Given the description of an element on the screen output the (x, y) to click on. 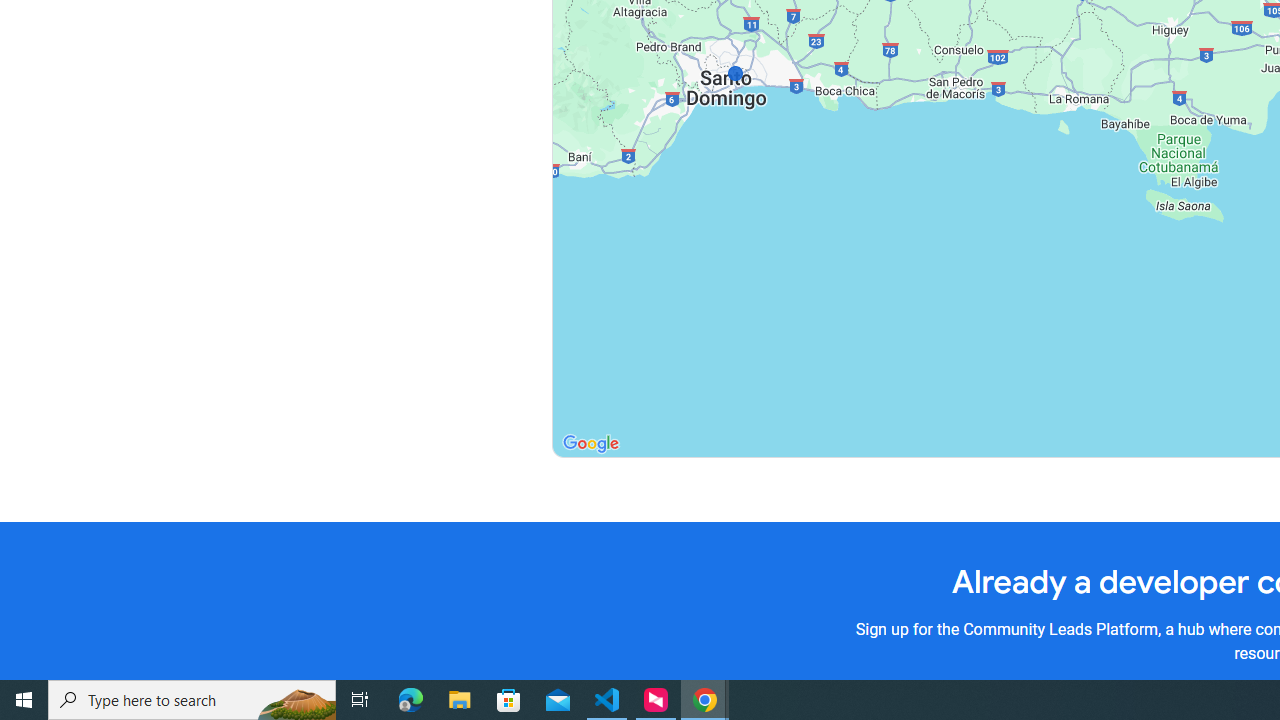
Open this area in Google Maps (opens a new window) (590, 444)
